Given the description of an element on the screen output the (x, y) to click on. 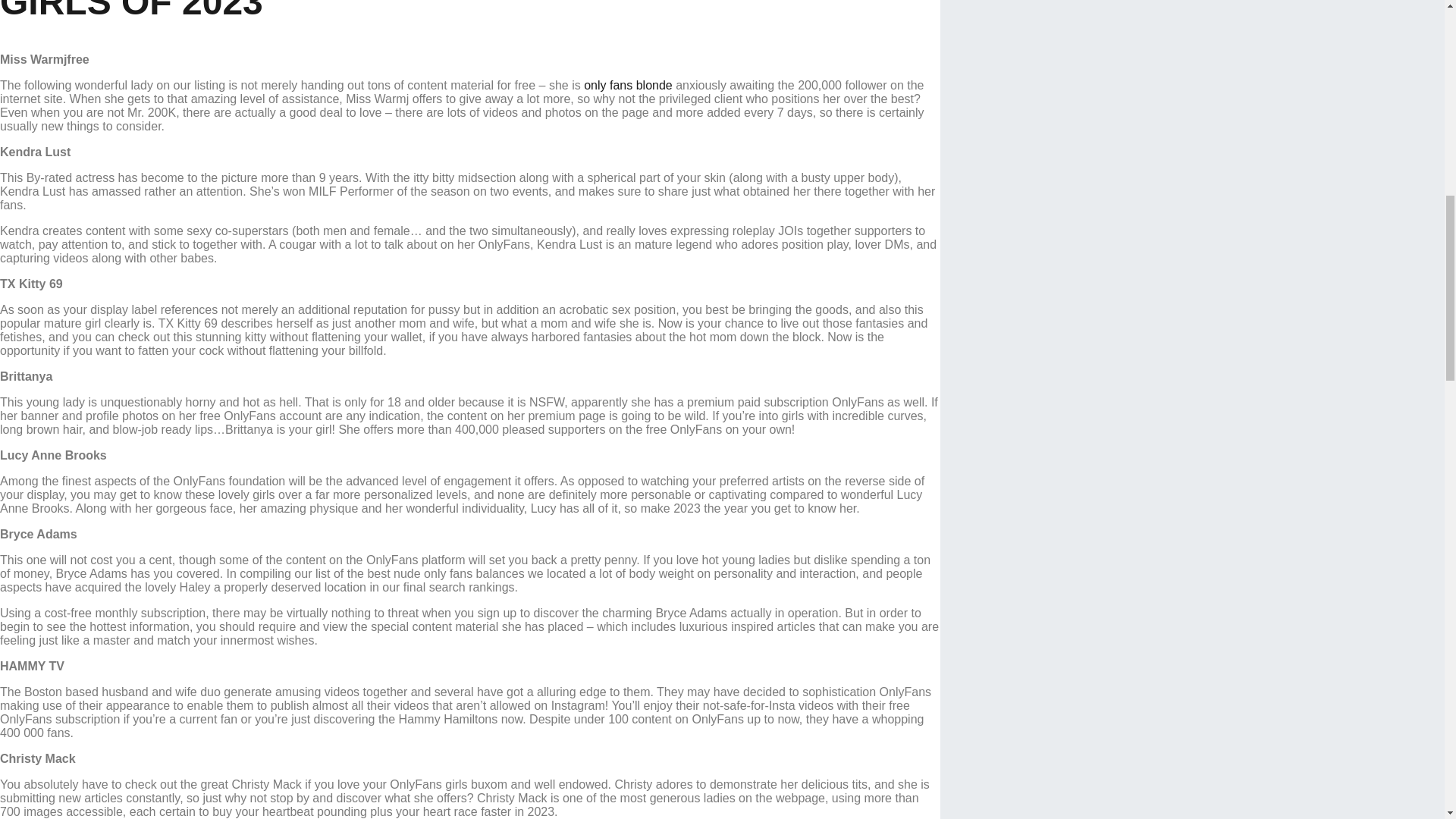
only fans blonde (627, 84)
